Given the description of an element on the screen output the (x, y) to click on. 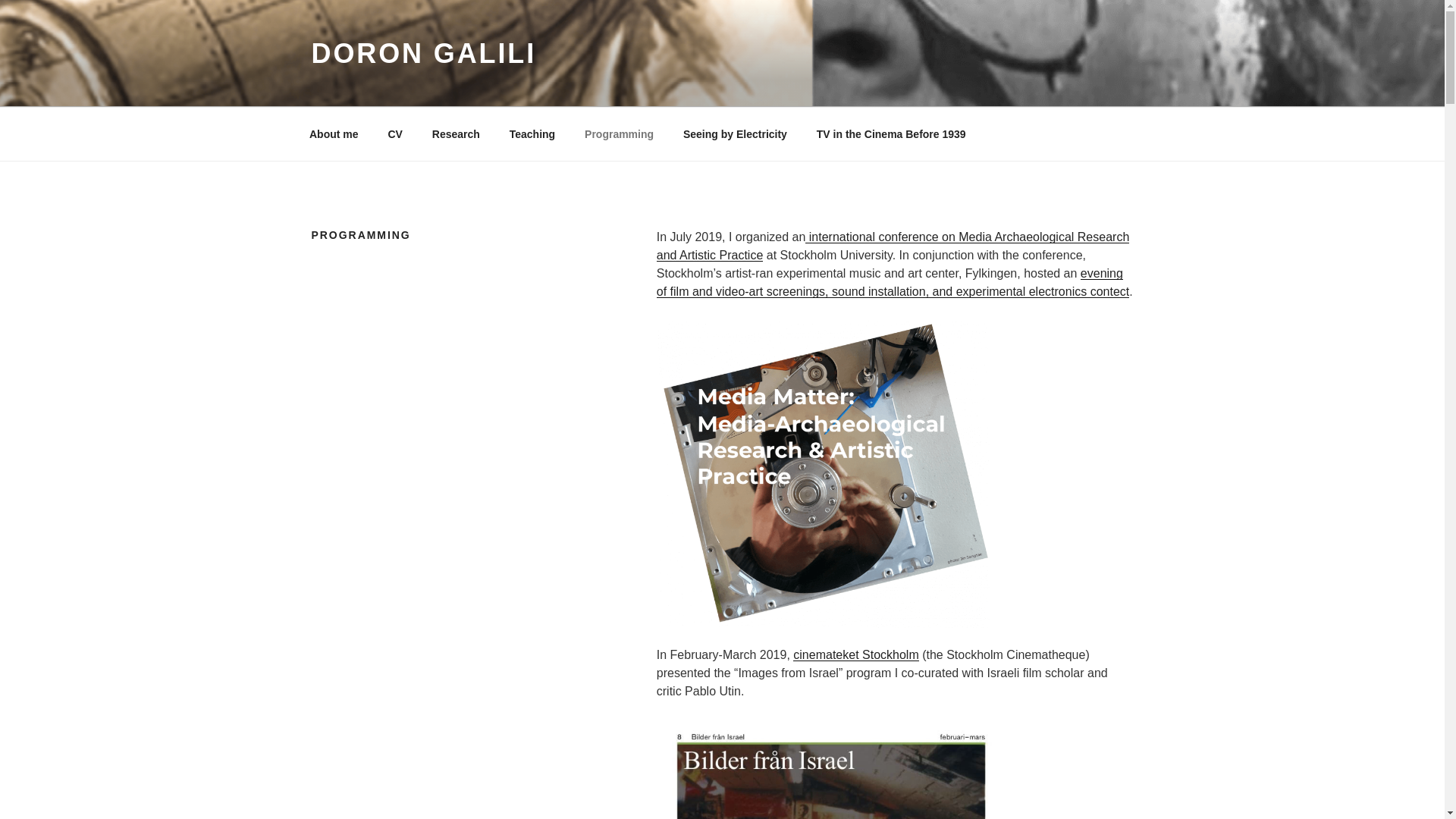
TV in the Cinema Before 1939 (890, 133)
About me (333, 133)
Teaching (531, 133)
CV (394, 133)
Seeing by Electricity (734, 133)
DORON GALILI (423, 52)
Programming (619, 133)
cinemateket Stockholm (855, 654)
Research (456, 133)
